Given the description of an element on the screen output the (x, y) to click on. 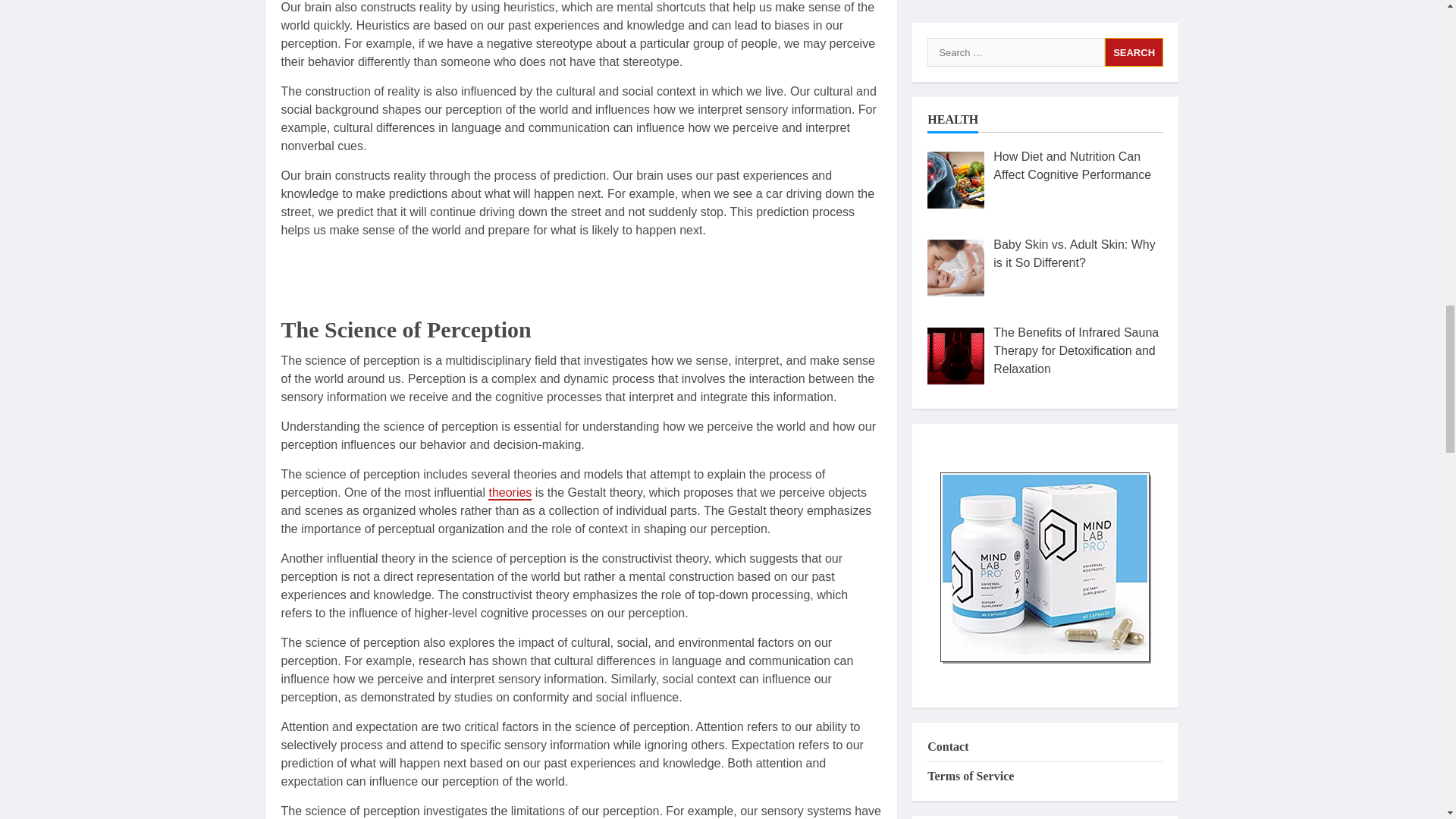
theories (509, 493)
